Given the description of an element on the screen output the (x, y) to click on. 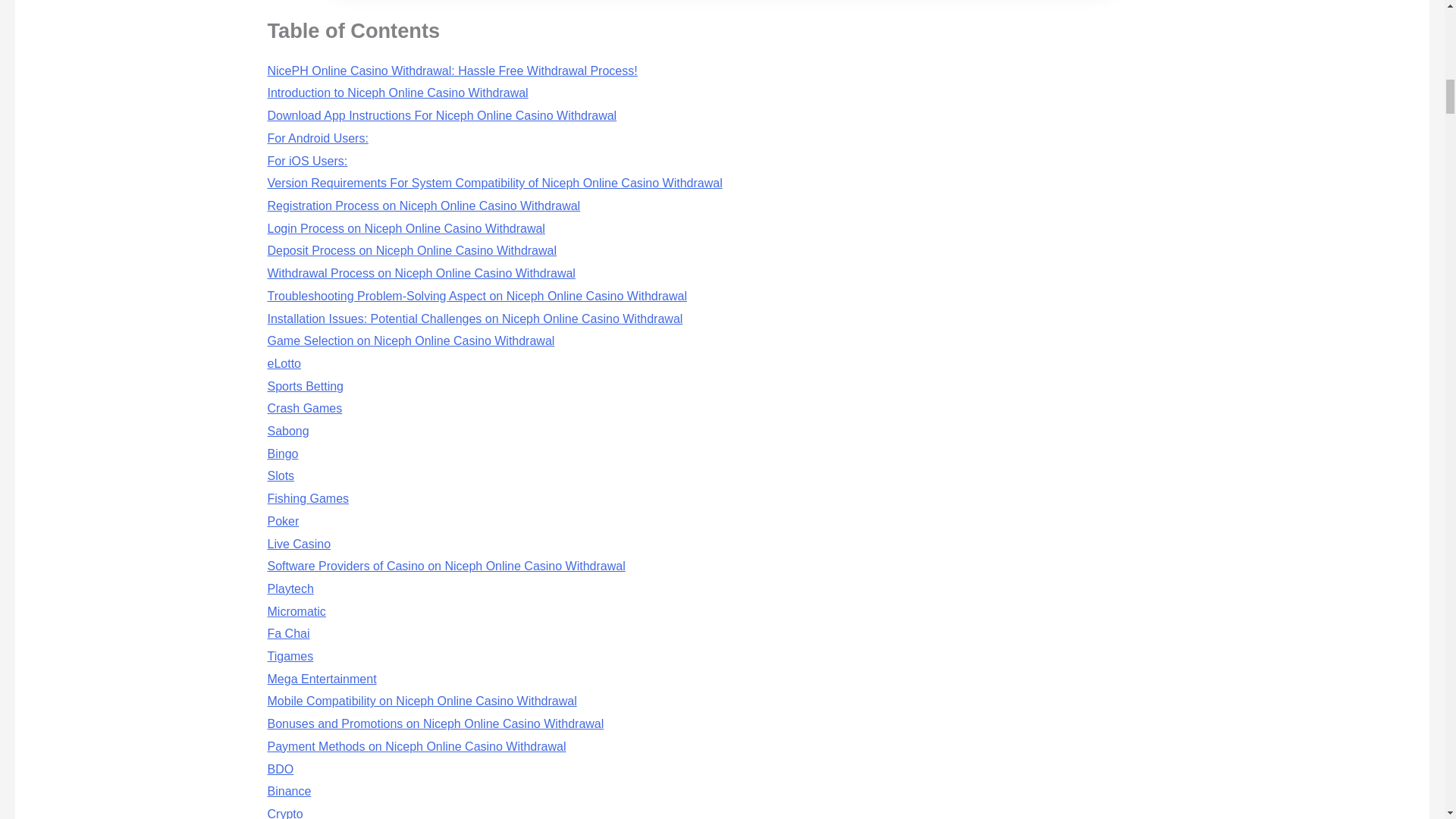
Live Casino (298, 543)
Slots (280, 475)
Fa Chai (287, 633)
Bonuses and Promotions on Niceph Online Casino Withdrawal (435, 723)
Fishing Games (307, 498)
Registration Process on Niceph Online Casino Withdrawal (422, 205)
Sabong (287, 431)
Bingo (282, 453)
Game Selection on Niceph Online Casino Withdrawal (410, 340)
Crash Games (304, 408)
